Given the description of an element on the screen output the (x, y) to click on. 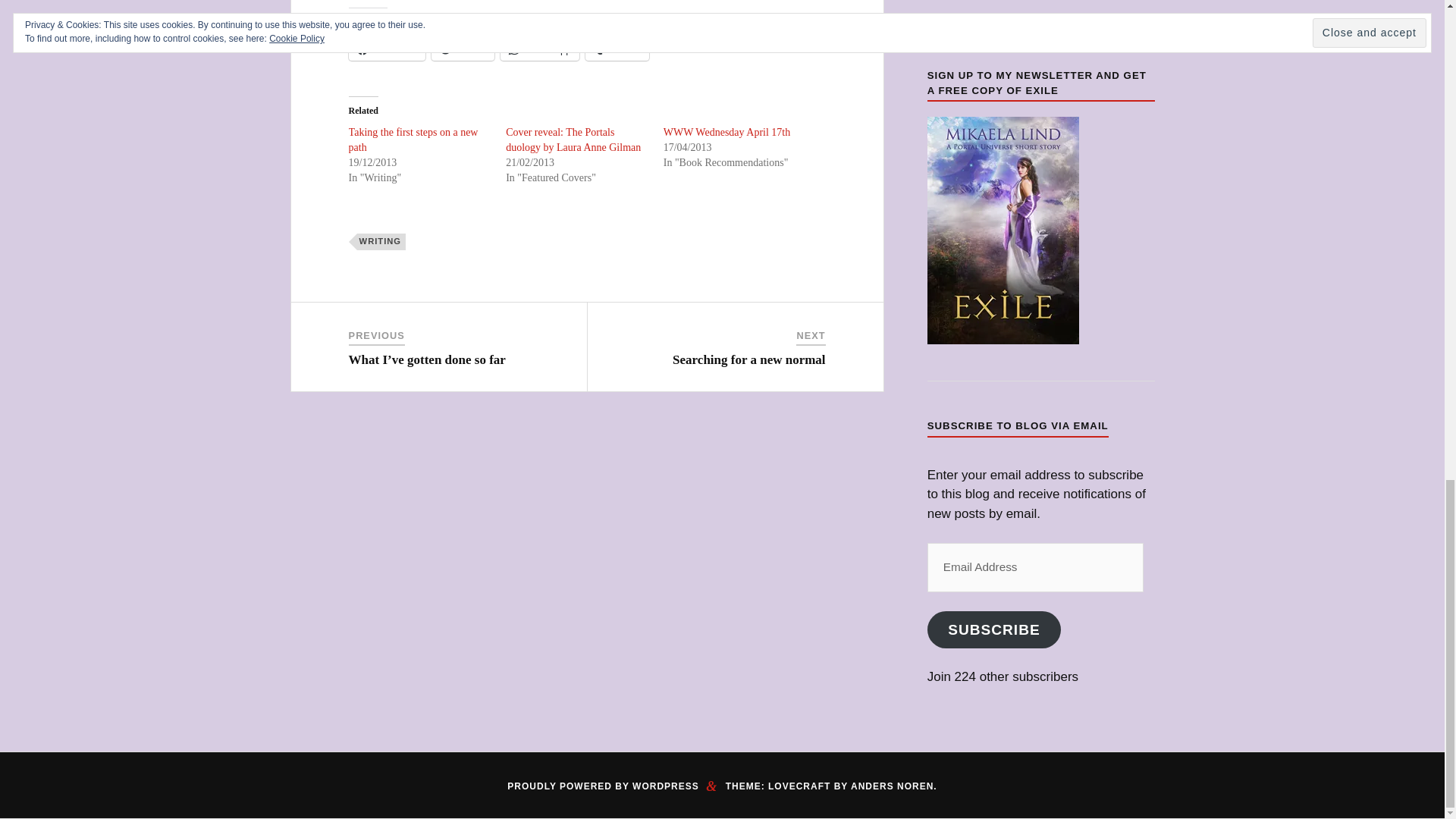
WhatsApp (539, 48)
Cover reveal: The Portals duology by Laura Anne Gilman (572, 139)
WRITING (381, 241)
Pocket (462, 48)
Click to share on Facebook (387, 48)
PROUDLY POWERED BY WORDPRESS (602, 786)
Taking the first steps on a new path (414, 139)
SUBSCRIBE (994, 629)
Tumblr (617, 48)
Taking the first steps on a new path (705, 347)
WWW Wednesday April 17th (414, 139)
Facebook (726, 132)
ANDERS NOREN (387, 48)
Click to share on Tumblr (891, 786)
